Given the description of an element on the screen output the (x, y) to click on. 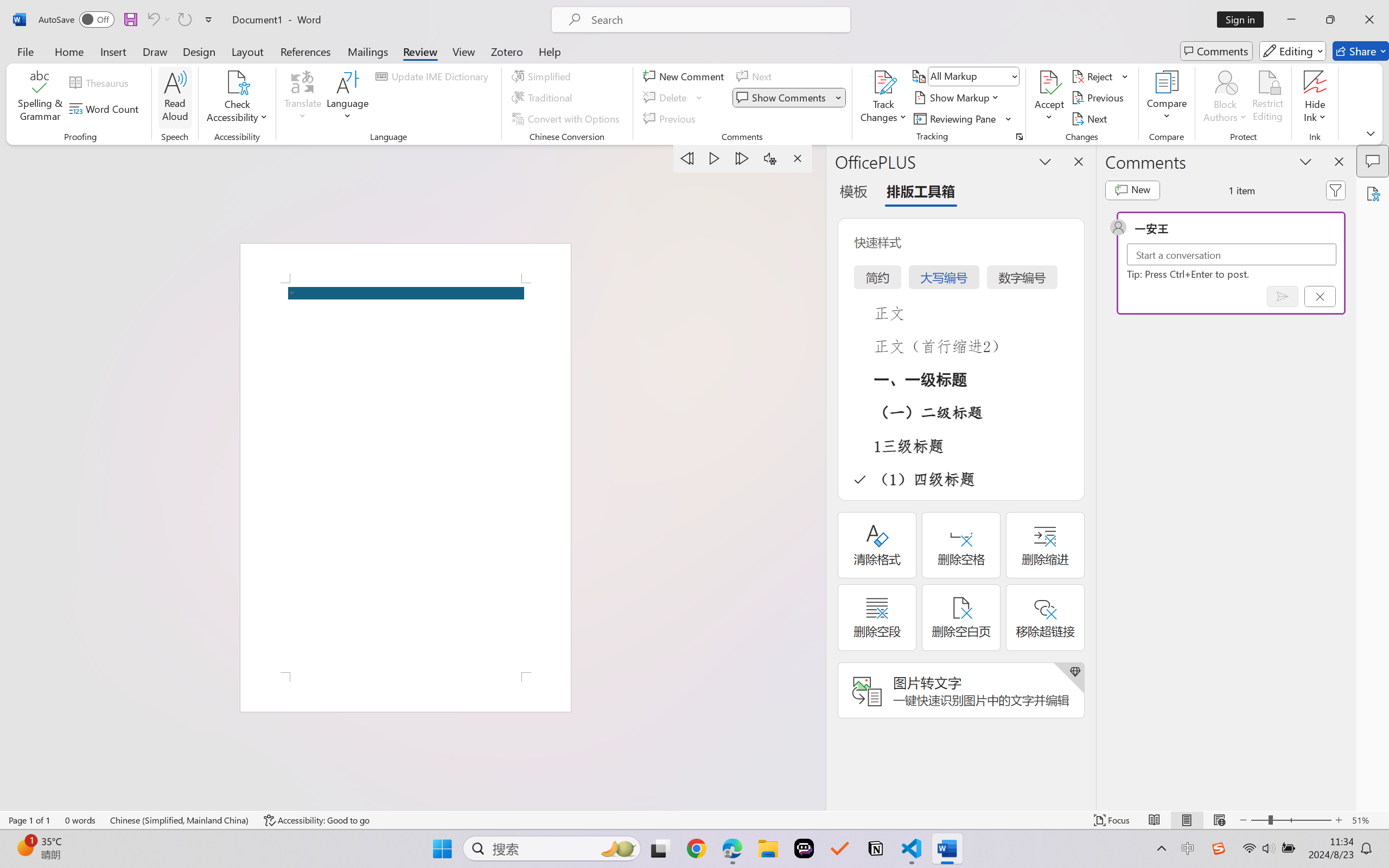
Spelling & Grammar (39, 97)
Reject (1100, 75)
New comment (1132, 190)
Word Count (105, 108)
Post comment (Ctrl + Enter) (1282, 296)
Editing (1292, 50)
Block Authors (1224, 81)
Track Changes (883, 81)
Undo Apply Quick Style Set (152, 19)
